Given the description of an element on the screen output the (x, y) to click on. 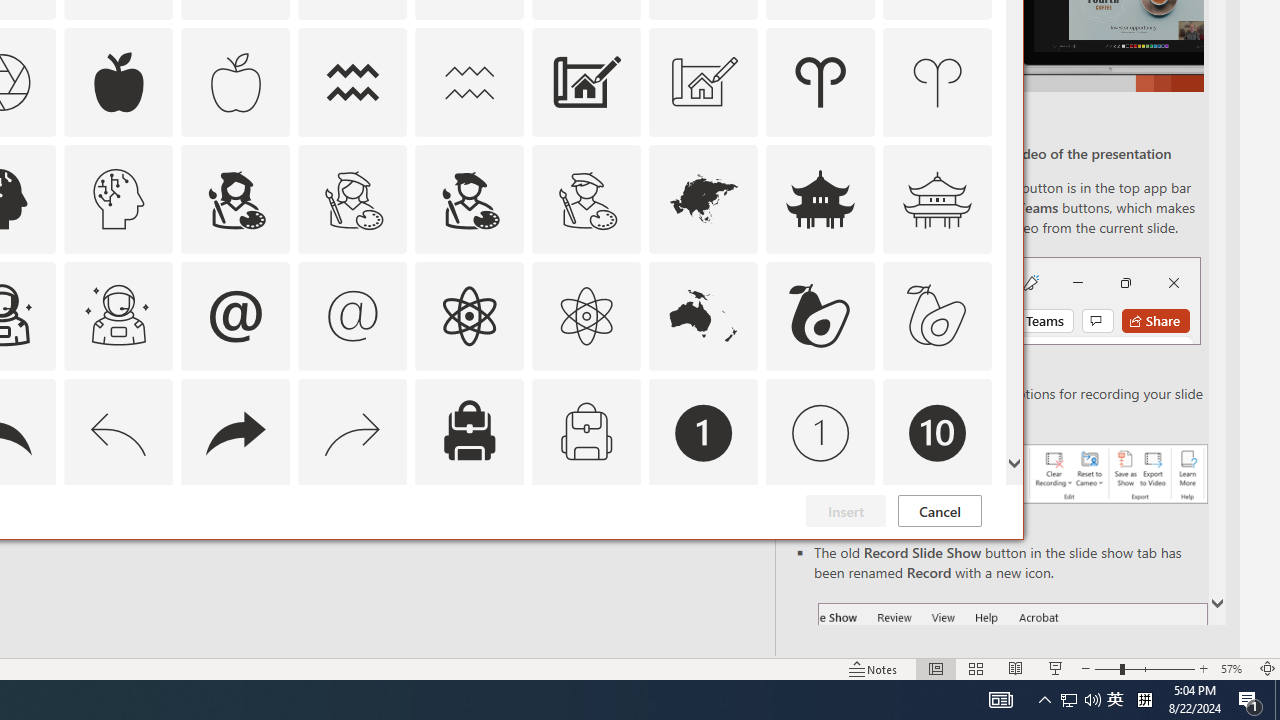
AutomationID: Icons_Backpack (469, 432)
AutomationID: Icons_Back_RTL_M (353, 432)
AutomationID: Icons_Aquarius (353, 82)
AutomationID: Icons_Badge8 (586, 550)
AutomationID: Icons_ArtistMale_M (586, 198)
AutomationID: Icons_Apple_M (235, 82)
AutomationID: Icons_Badge9_M (938, 550)
